Given the description of an element on the screen output the (x, y) to click on. 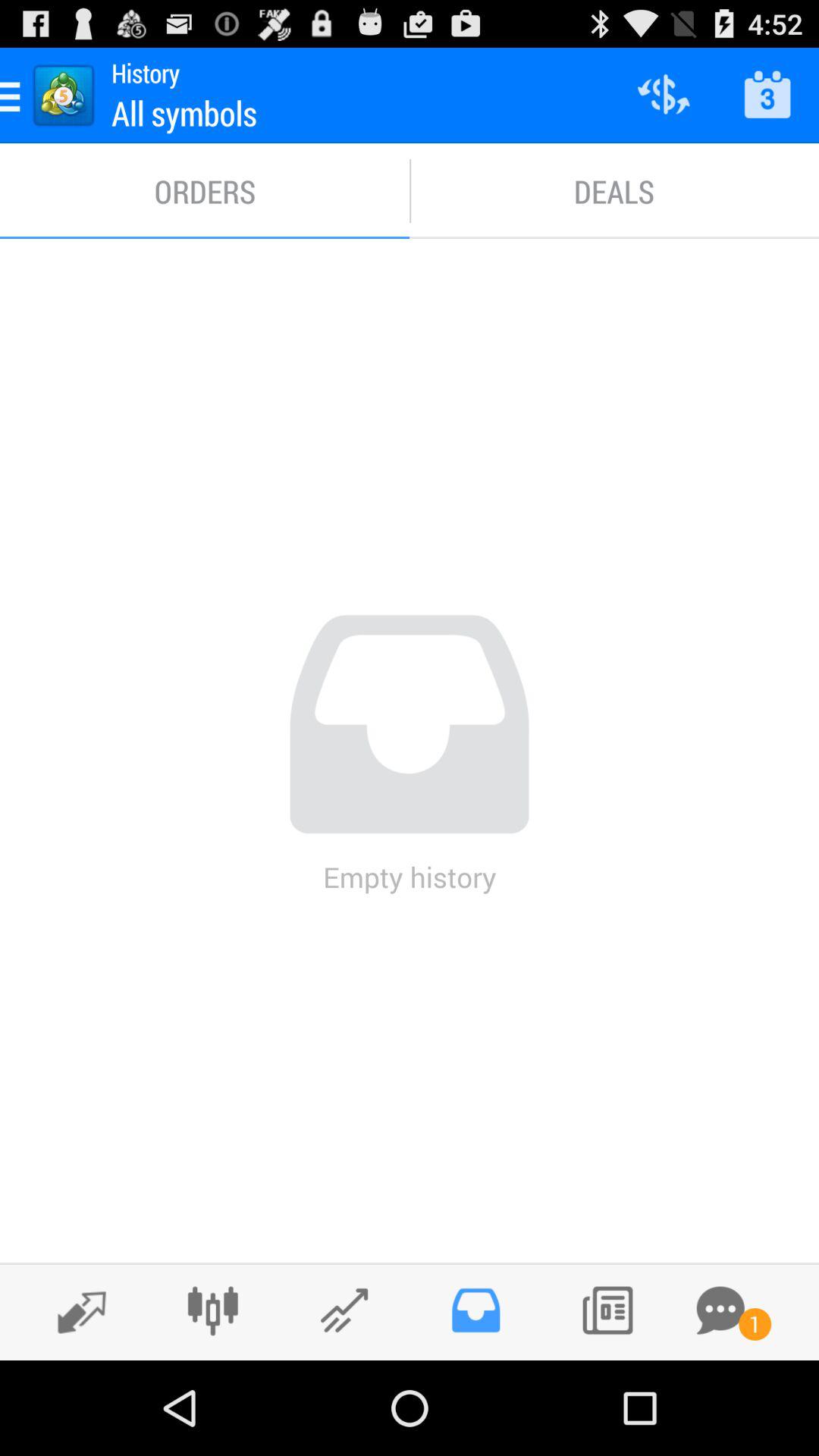
open messages (720, 1310)
